Given the description of an element on the screen output the (x, y) to click on. 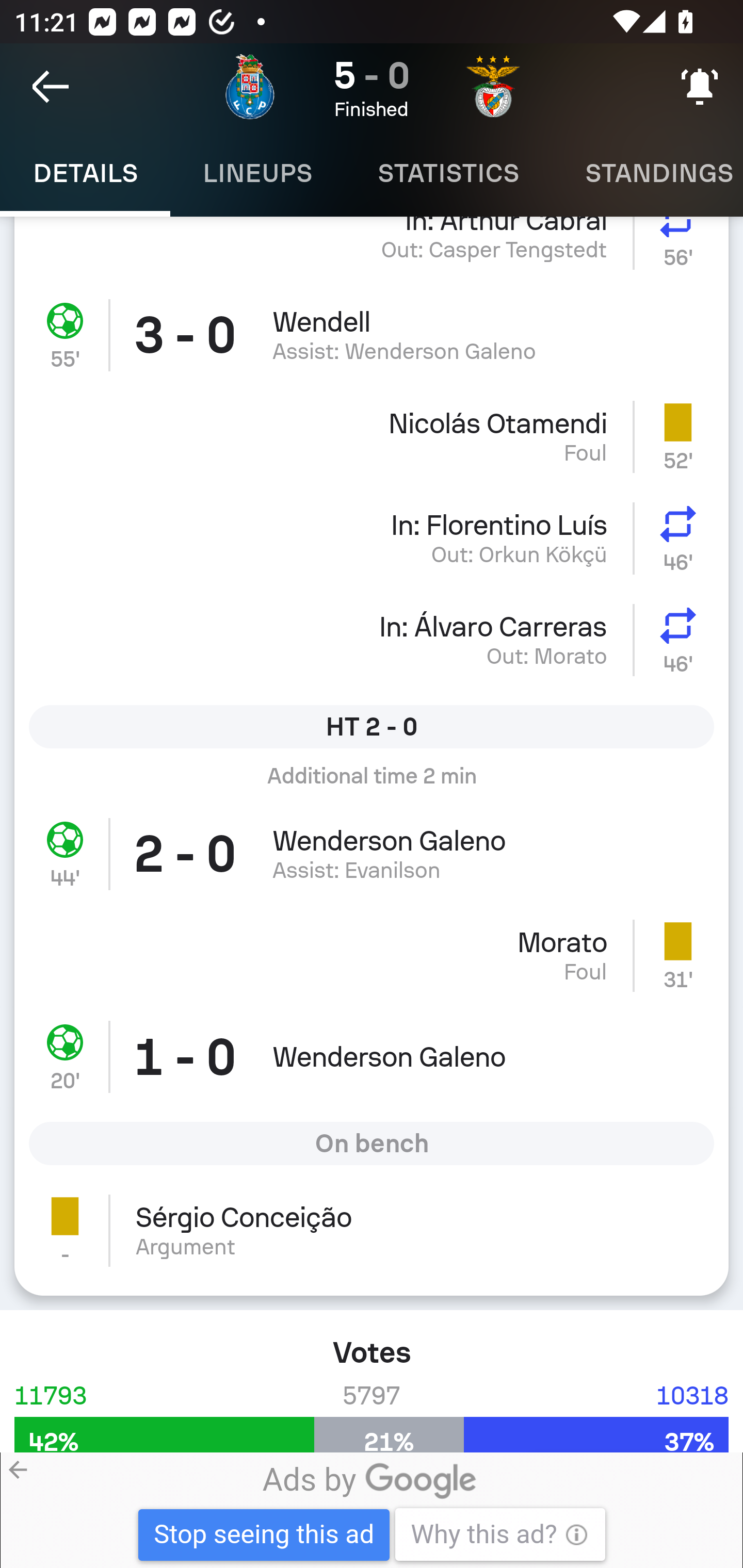
Navigate up (50, 86)
Lineups LINEUPS (257, 173)
Statistics STATISTICS (448, 173)
Standings STANDINGS (647, 173)
Nicolás Otamendi Foul Yellow card 52' (371, 436)
In: Álvaro Carreras Out: Morato Substitution 46' (371, 639)
HT 2 - 0 (371, 726)
Additional time 2 min (371, 782)
Morato Foul Yellow card 31' (371, 955)
Goal 20'  1  -  0  Wenderson Galeno (371, 1056)
On bench (371, 1143)
Yellow card Sérgio Conceição - Argument (371, 1237)
